Given the description of an element on the screen output the (x, y) to click on. 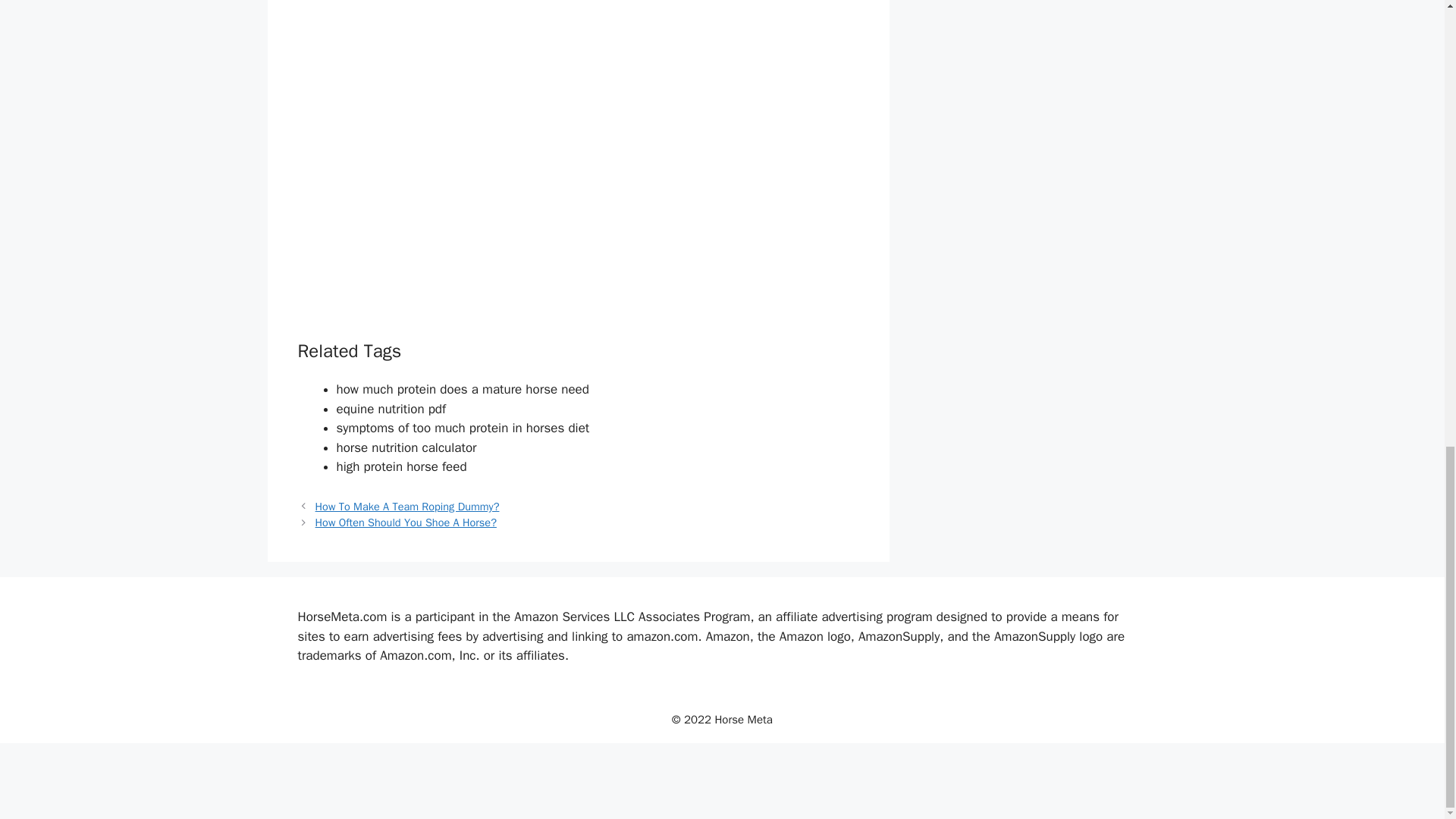
How Often Should You Shoe A Horse? (405, 522)
How To Make A Team Roping Dummy? (407, 506)
